Given the description of an element on the screen output the (x, y) to click on. 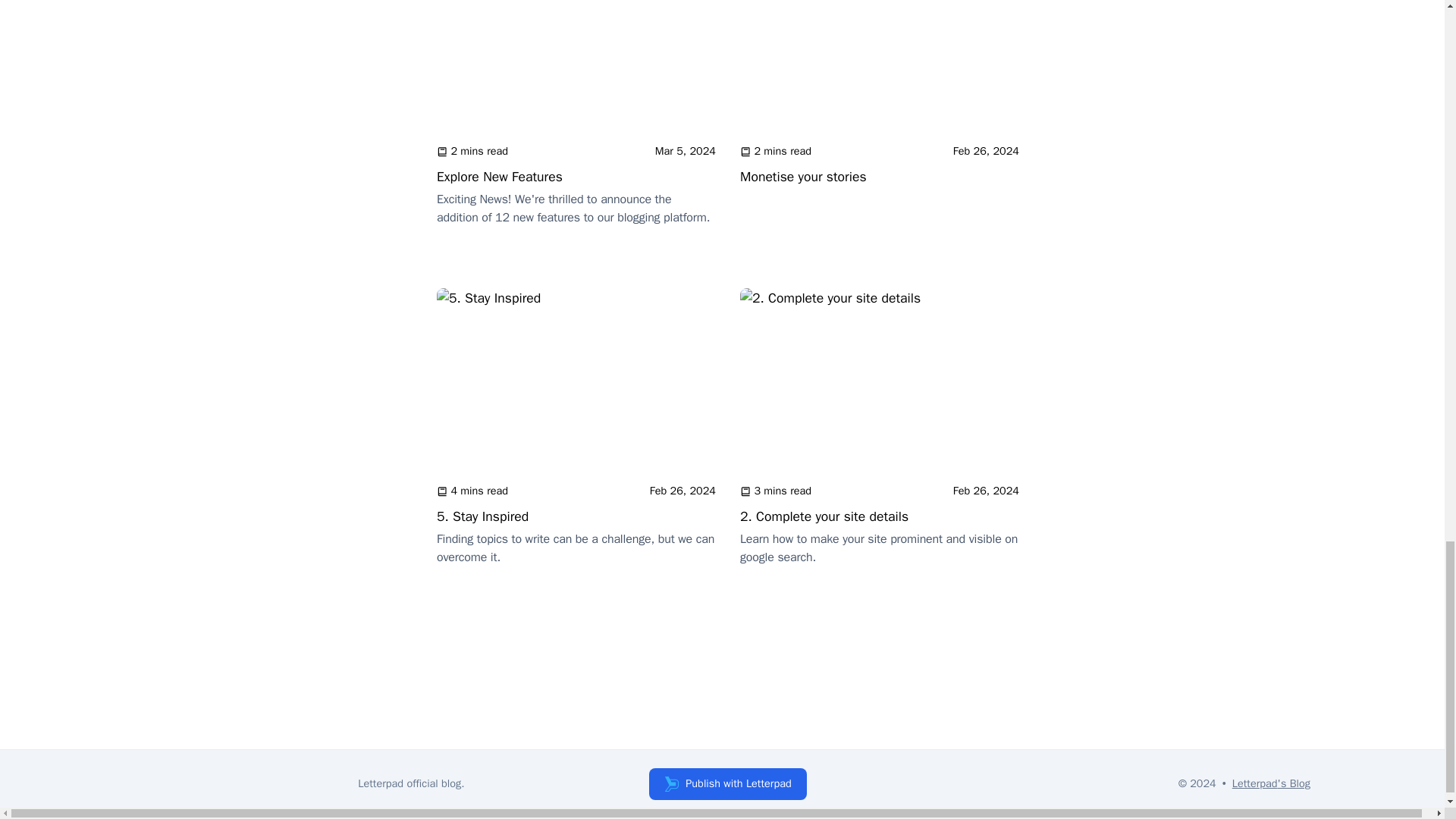
Letterpad's Blog (1270, 783)
Publish with Letterpad (879, 131)
